Given the description of an element on the screen output the (x, y) to click on. 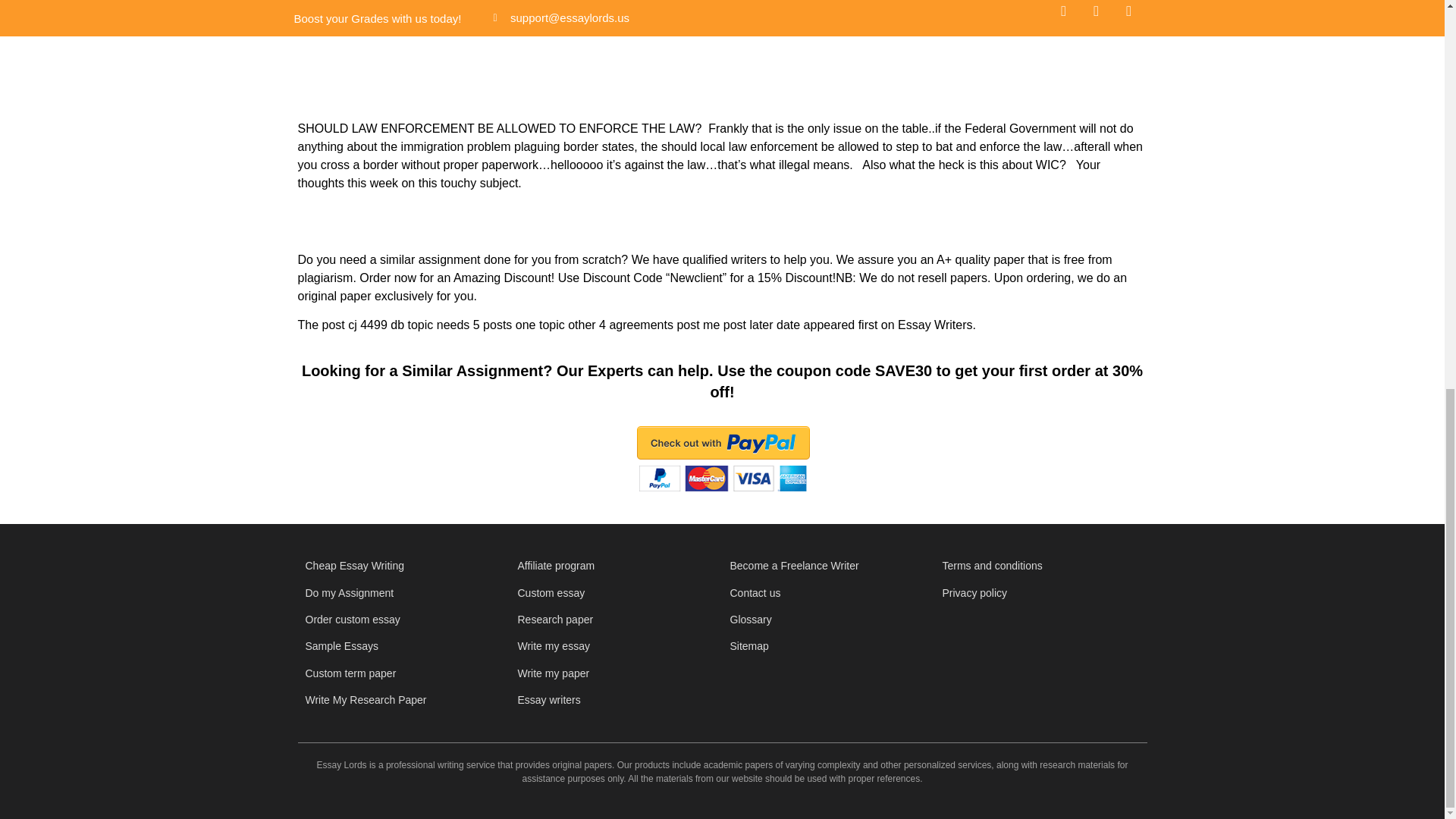
Illegal Aliens Collecting WIC Vouchers in Georgia (722, 37)
